Given the description of an element on the screen output the (x, y) to click on. 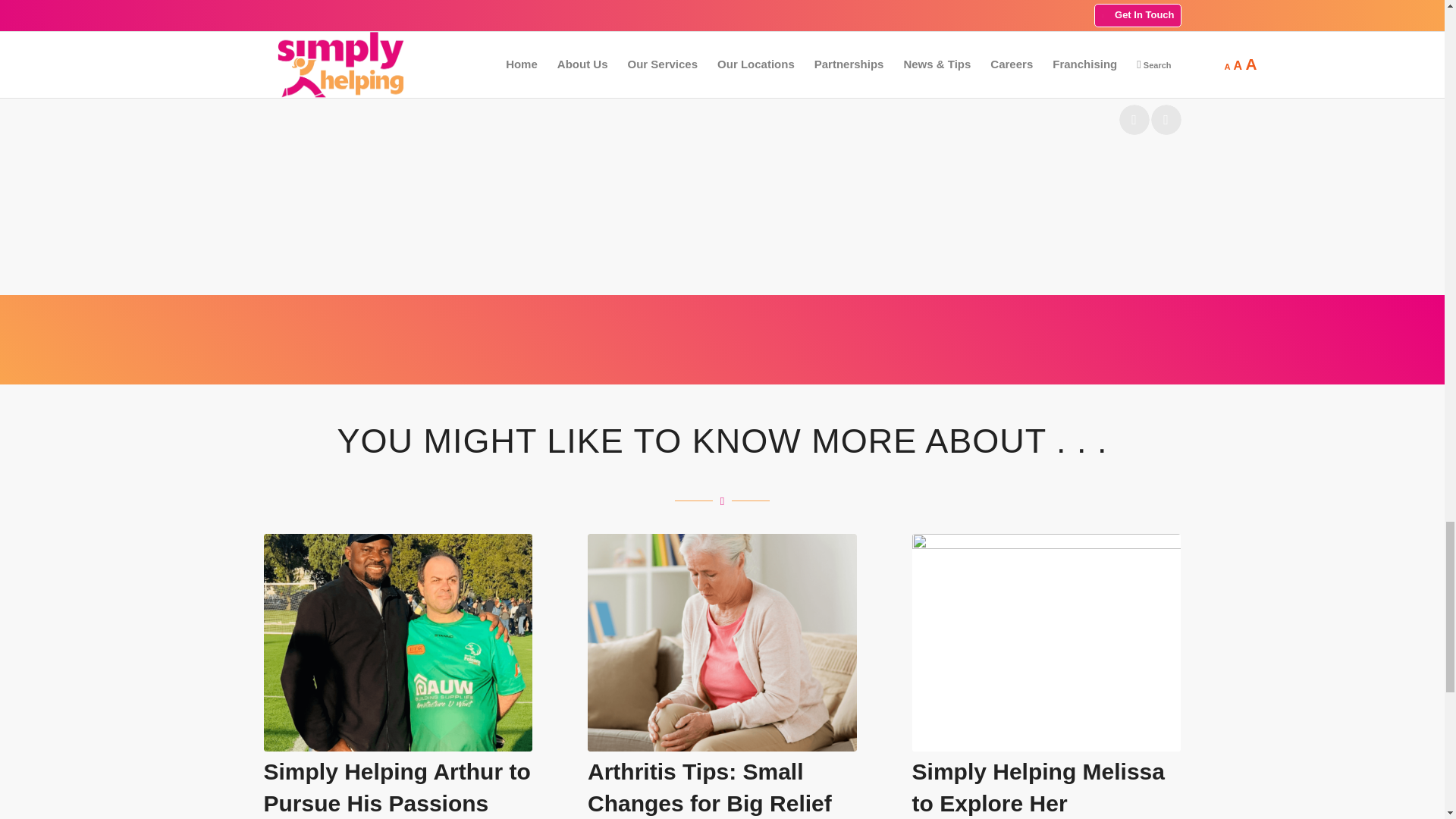
Previous (1134, 119)
Next (1165, 119)
Arthritis Tips: Small Changes for Big Relief (709, 786)
Simply Helping Arthur to Pursue His Passions (397, 786)
Simply Helping Arthur to Pursue His Passions (397, 786)
